Given the description of an element on the screen output the (x, y) to click on. 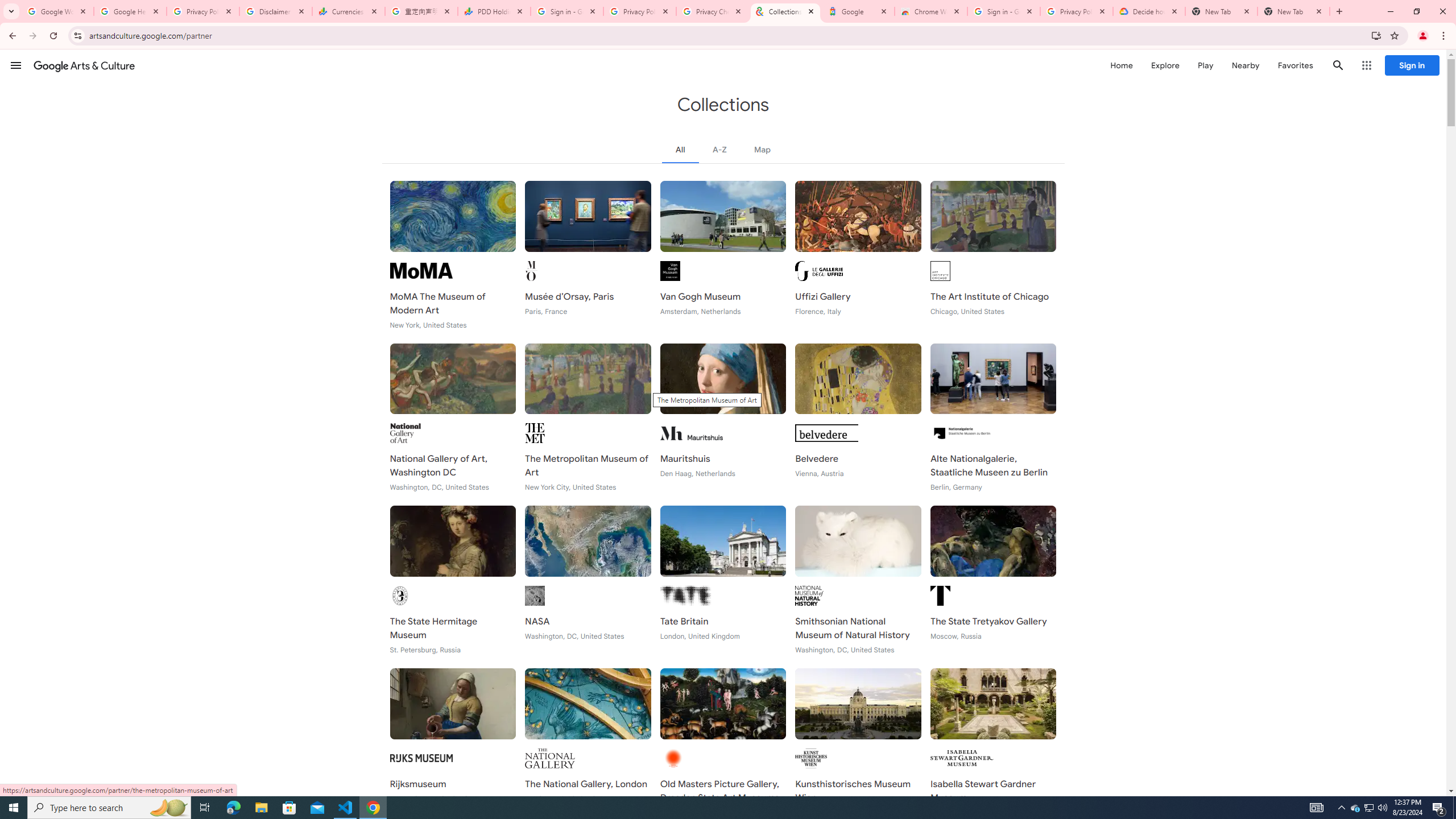
Currencies - Google Finance (348, 11)
Favorites (1295, 65)
Google Arts & Culture (84, 65)
Tate Britain London, United Kingdom (722, 579)
Play (1205, 65)
